Given the description of an element on the screen output the (x, y) to click on. 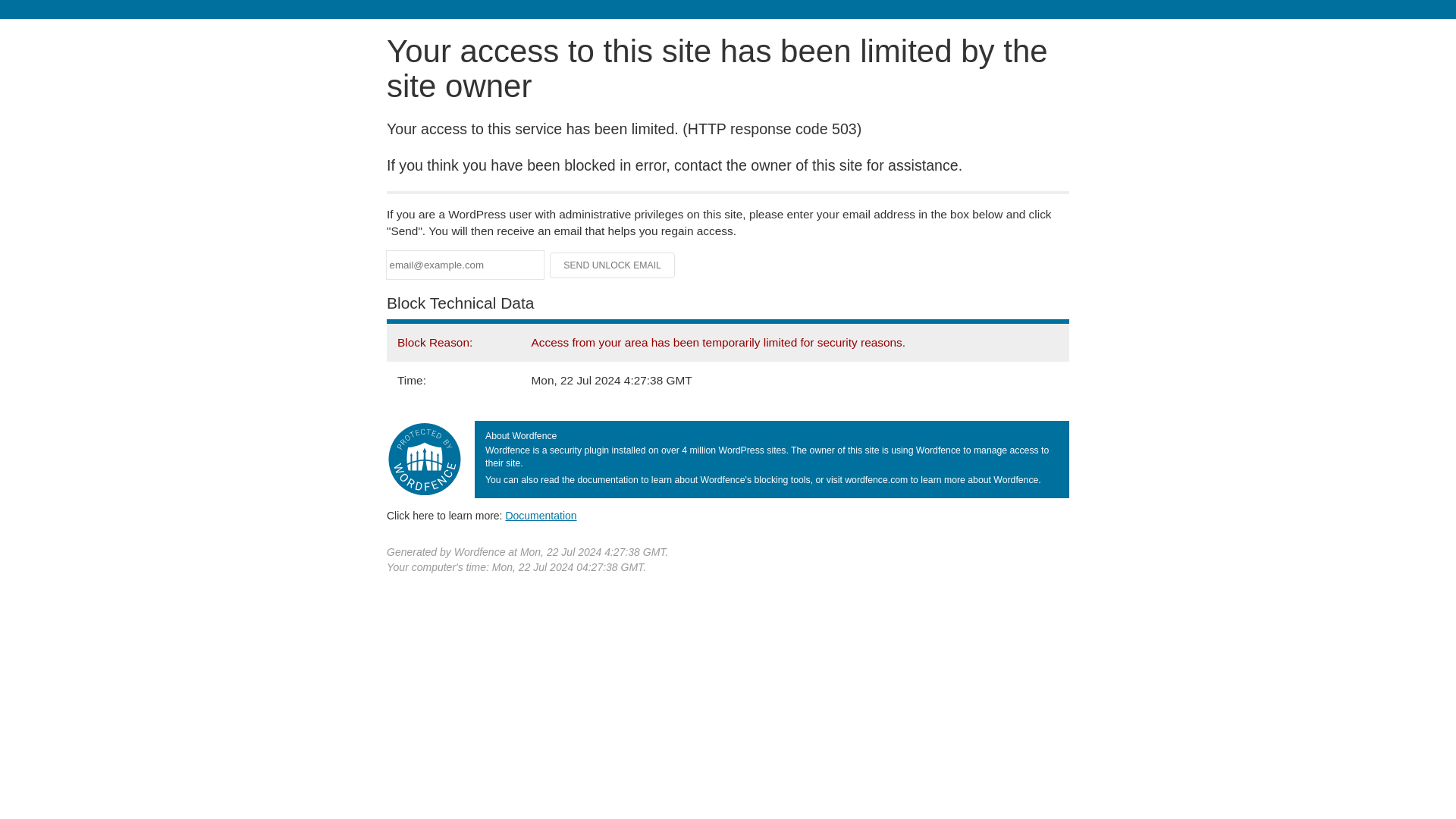
Send Unlock Email (612, 265)
Send Unlock Email (612, 265)
Documentation (540, 515)
